Given the description of an element on the screen output the (x, y) to click on. 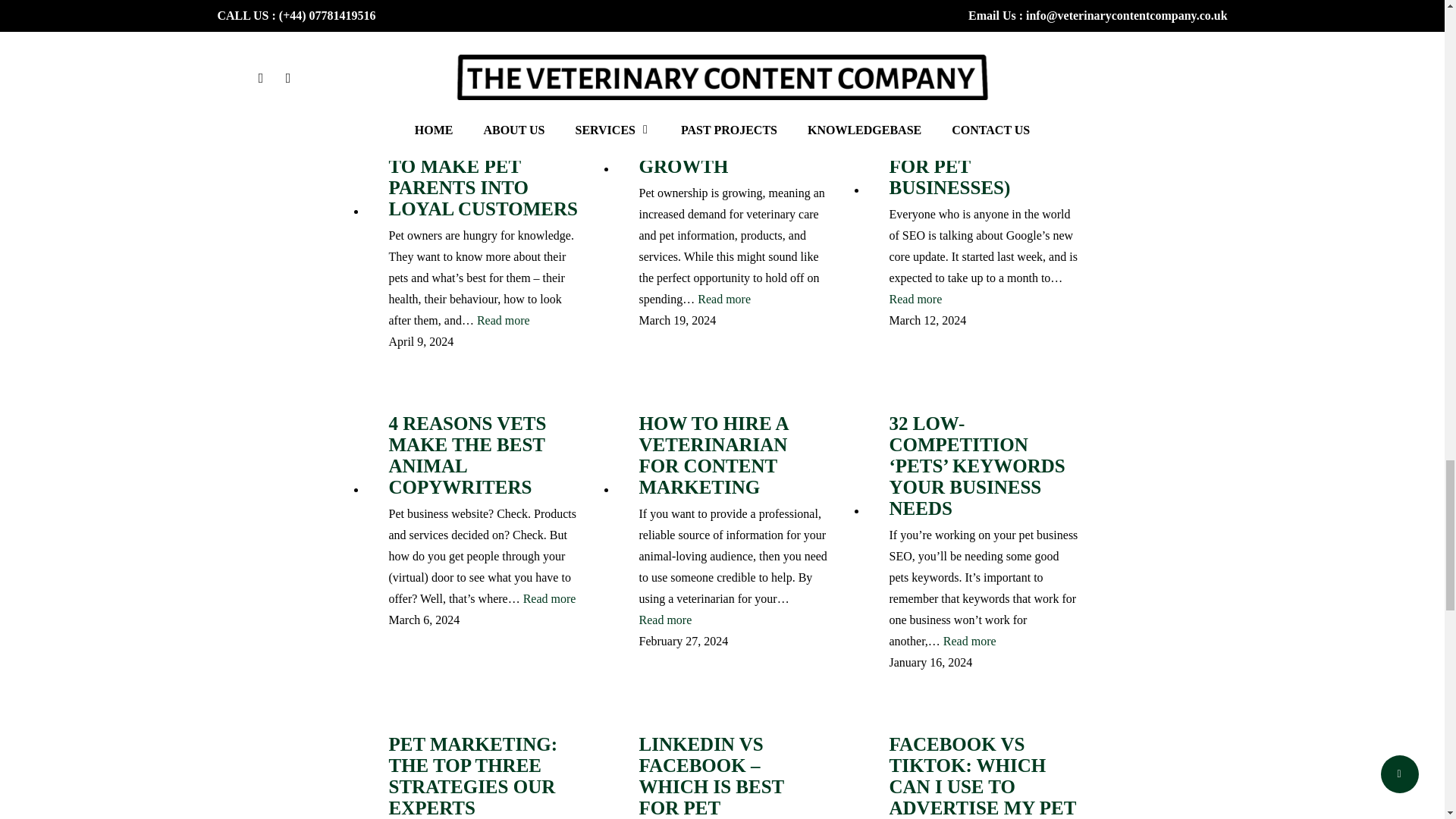
Read more (770, 5)
MASTERING MARKETING FOR PET BUSINESS GROWTH (733, 134)
Read more (724, 299)
Read more (503, 320)
